Given the description of an element on the screen output the (x, y) to click on. 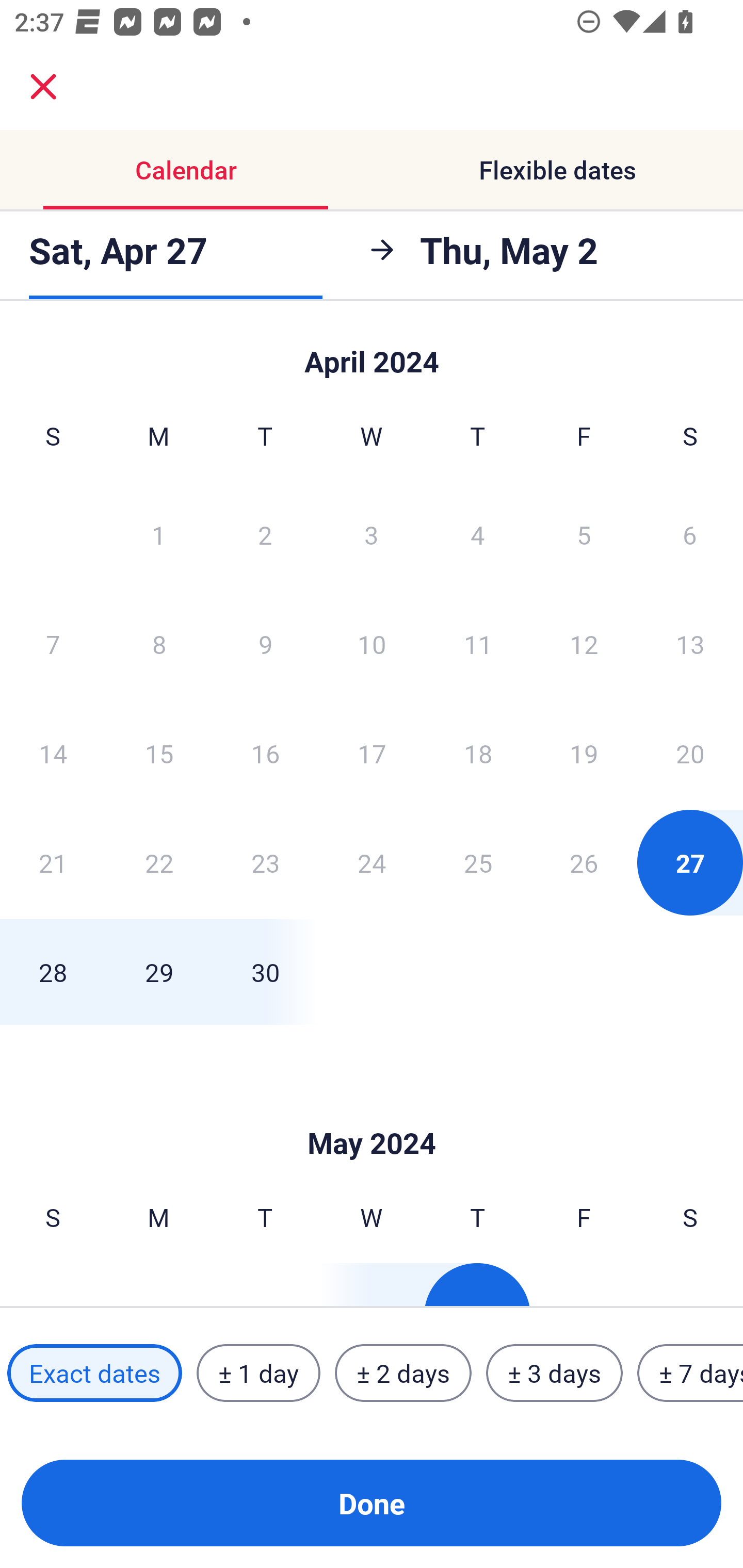
close. (43, 86)
Flexible dates (557, 170)
Skip to Done (371, 352)
1 Monday, April 1, 2024 (158, 534)
2 Tuesday, April 2, 2024 (264, 534)
3 Wednesday, April 3, 2024 (371, 534)
4 Thursday, April 4, 2024 (477, 534)
5 Friday, April 5, 2024 (583, 534)
6 Saturday, April 6, 2024 (689, 534)
7 Sunday, April 7, 2024 (53, 643)
8 Monday, April 8, 2024 (159, 643)
9 Tuesday, April 9, 2024 (265, 643)
10 Wednesday, April 10, 2024 (371, 643)
11 Thursday, April 11, 2024 (477, 643)
12 Friday, April 12, 2024 (584, 643)
13 Saturday, April 13, 2024 (690, 643)
14 Sunday, April 14, 2024 (53, 752)
15 Monday, April 15, 2024 (159, 752)
16 Tuesday, April 16, 2024 (265, 752)
17 Wednesday, April 17, 2024 (371, 752)
18 Thursday, April 18, 2024 (477, 752)
19 Friday, April 19, 2024 (584, 752)
20 Saturday, April 20, 2024 (690, 752)
21 Sunday, April 21, 2024 (53, 862)
22 Monday, April 22, 2024 (159, 862)
23 Tuesday, April 23, 2024 (265, 862)
24 Wednesday, April 24, 2024 (371, 862)
25 Thursday, April 25, 2024 (477, 862)
26 Friday, April 26, 2024 (584, 862)
Skip to Done (371, 1112)
Exact dates (94, 1372)
± 1 day (258, 1372)
± 2 days (403, 1372)
± 3 days (553, 1372)
± 7 days (690, 1372)
Done (371, 1502)
